Given the description of an element on the screen output the (x, y) to click on. 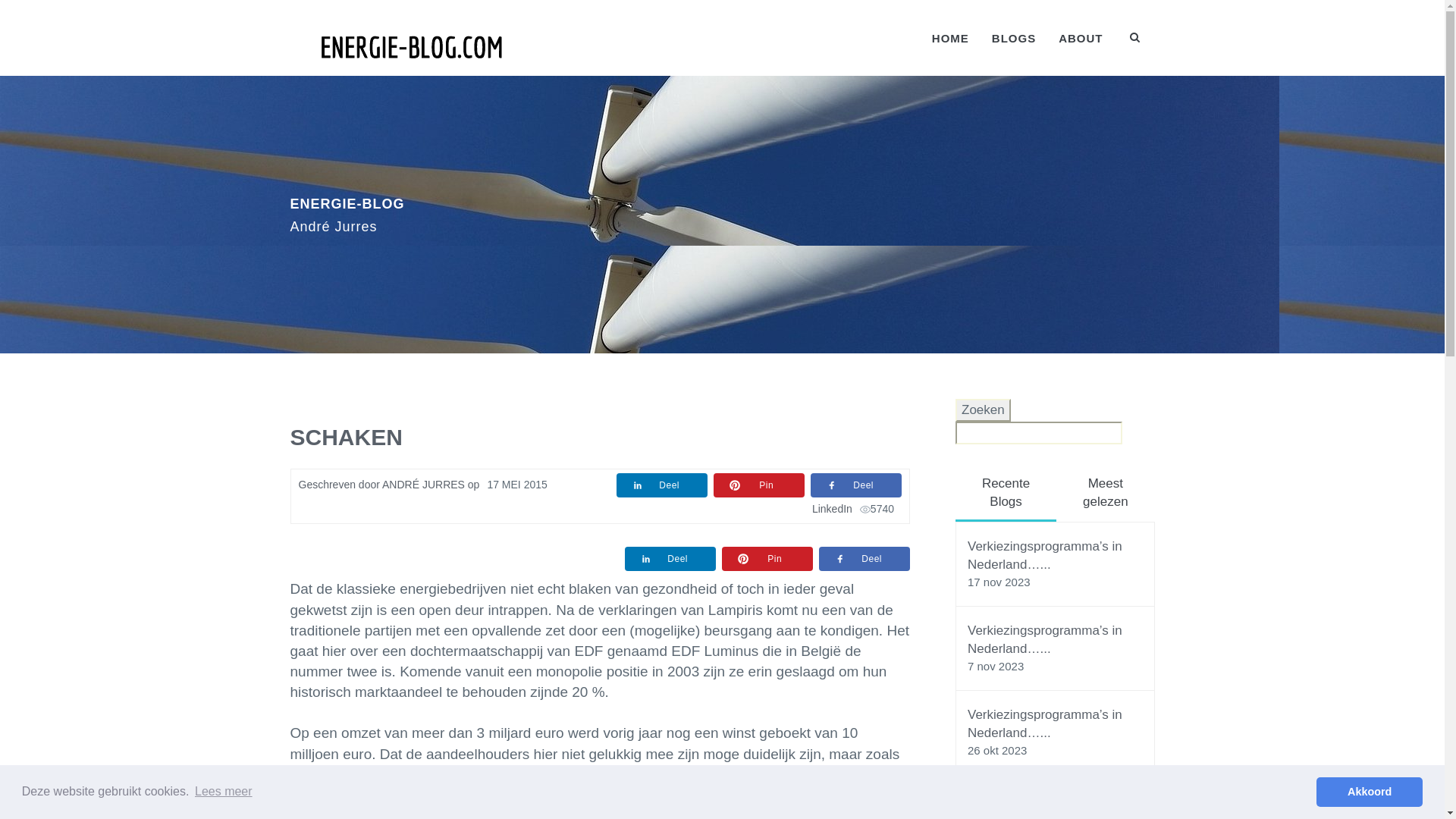
Akkoord Element type: text (1369, 791)
Recente Blogs Element type: text (1005, 494)
HOME Element type: text (950, 37)
Lees meer Element type: text (223, 791)
ABOUT Element type: text (1080, 37)
LinkedIn Element type: text (832, 508)
Zoeken Element type: text (982, 409)
SCHAKEN Element type: text (345, 436)
Meest gelezen Element type: text (1105, 493)
BLOGS Element type: text (1013, 37)
